Given the description of an element on the screen output the (x, y) to click on. 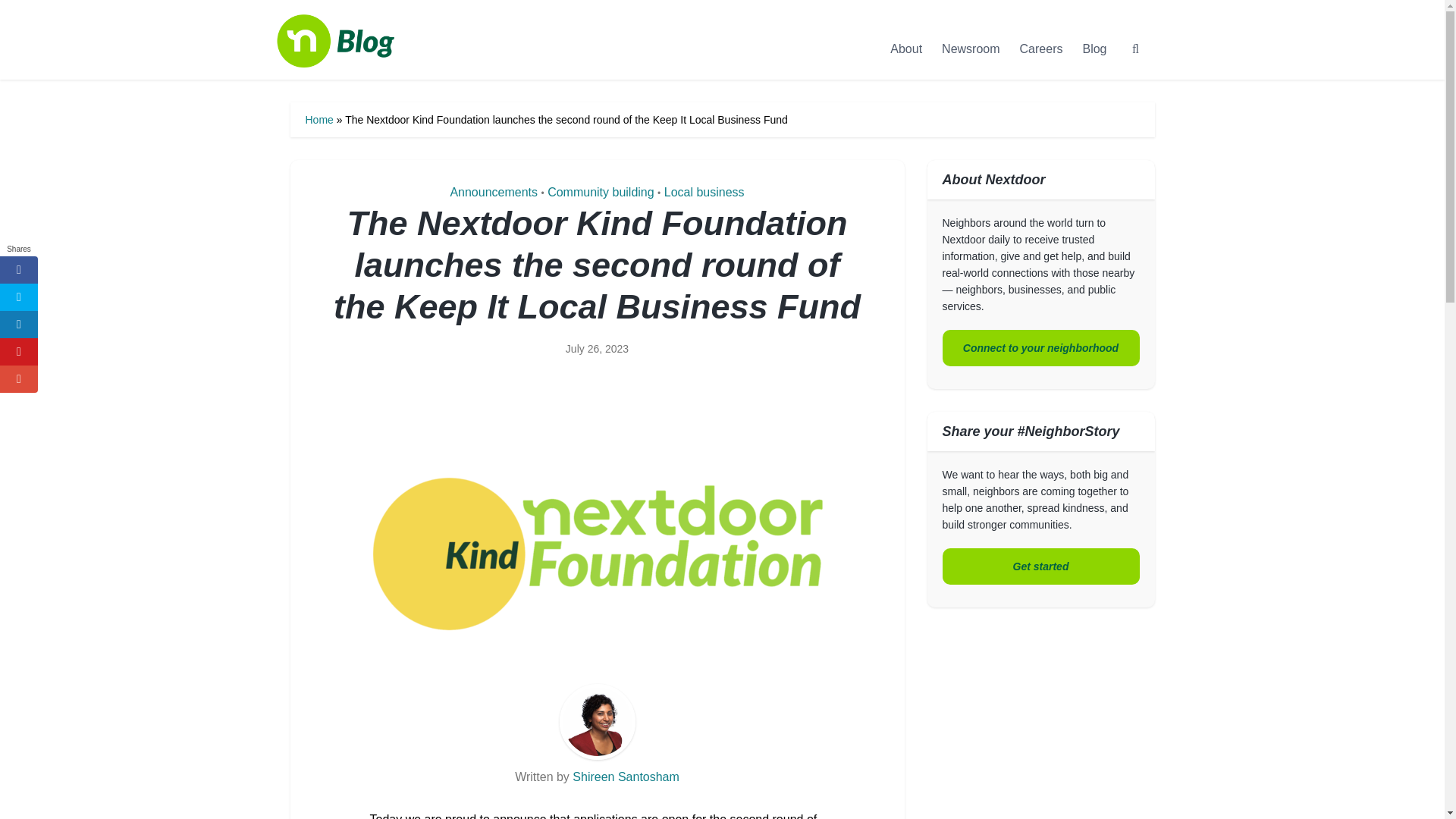
Get started (1040, 565)
Announcements (493, 192)
Community building (600, 192)
Nextdoor Blog (349, 58)
Local business (703, 192)
Shireen Santosham (625, 776)
Newsroom (970, 48)
Home (318, 119)
Blog (1093, 48)
About (905, 48)
